Given the description of an element on the screen output the (x, y) to click on. 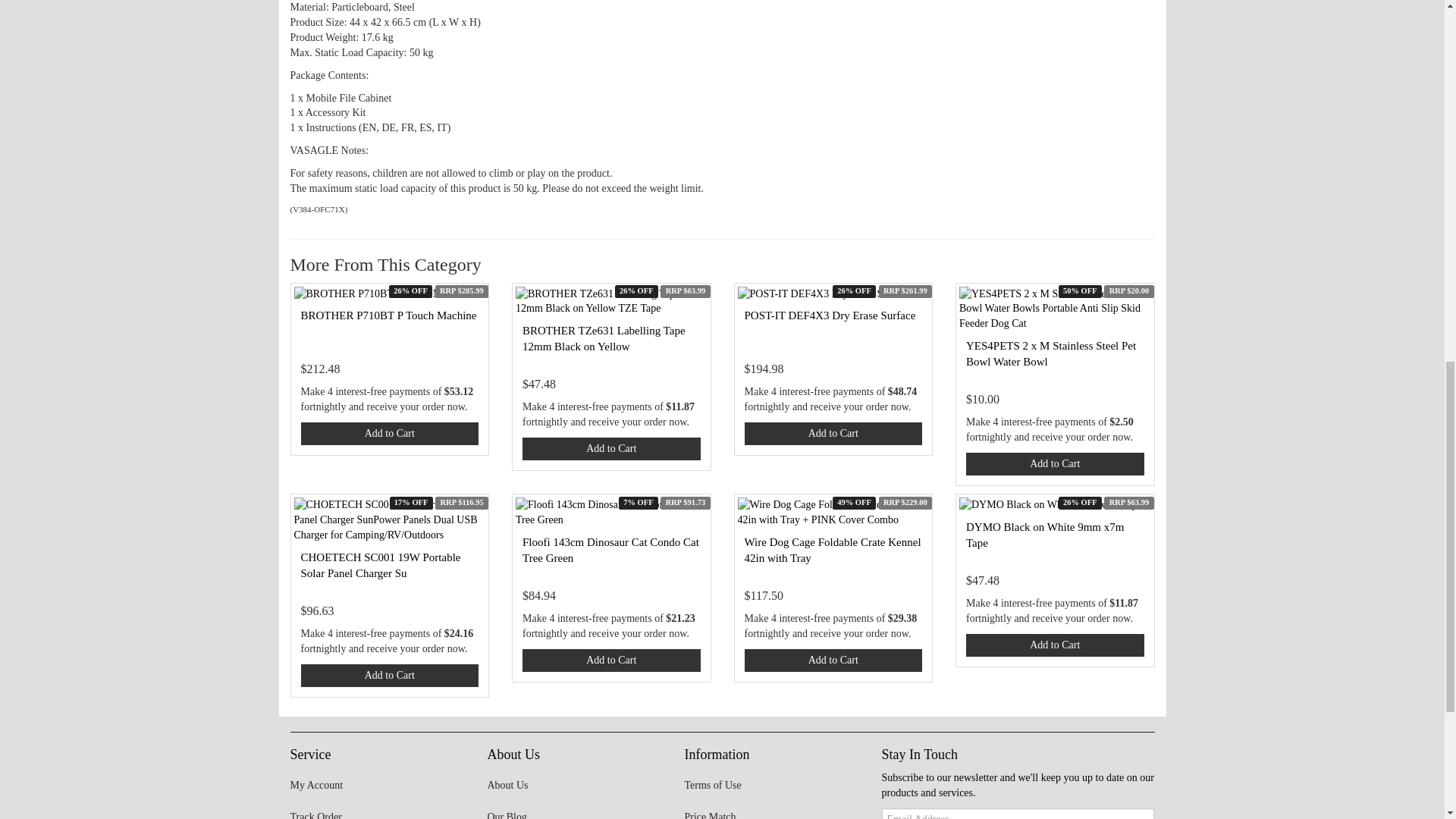
Add POST-IT DEF4X3 Dry Erase Surface to Cart (833, 433)
Add Floofi 143cm Dinosaur Cat Condo Cat Tree Green to Cart (611, 660)
Add BROTHER P710BT P Touch Machine to Cart (389, 433)
